Given the description of an element on the screen output the (x, y) to click on. 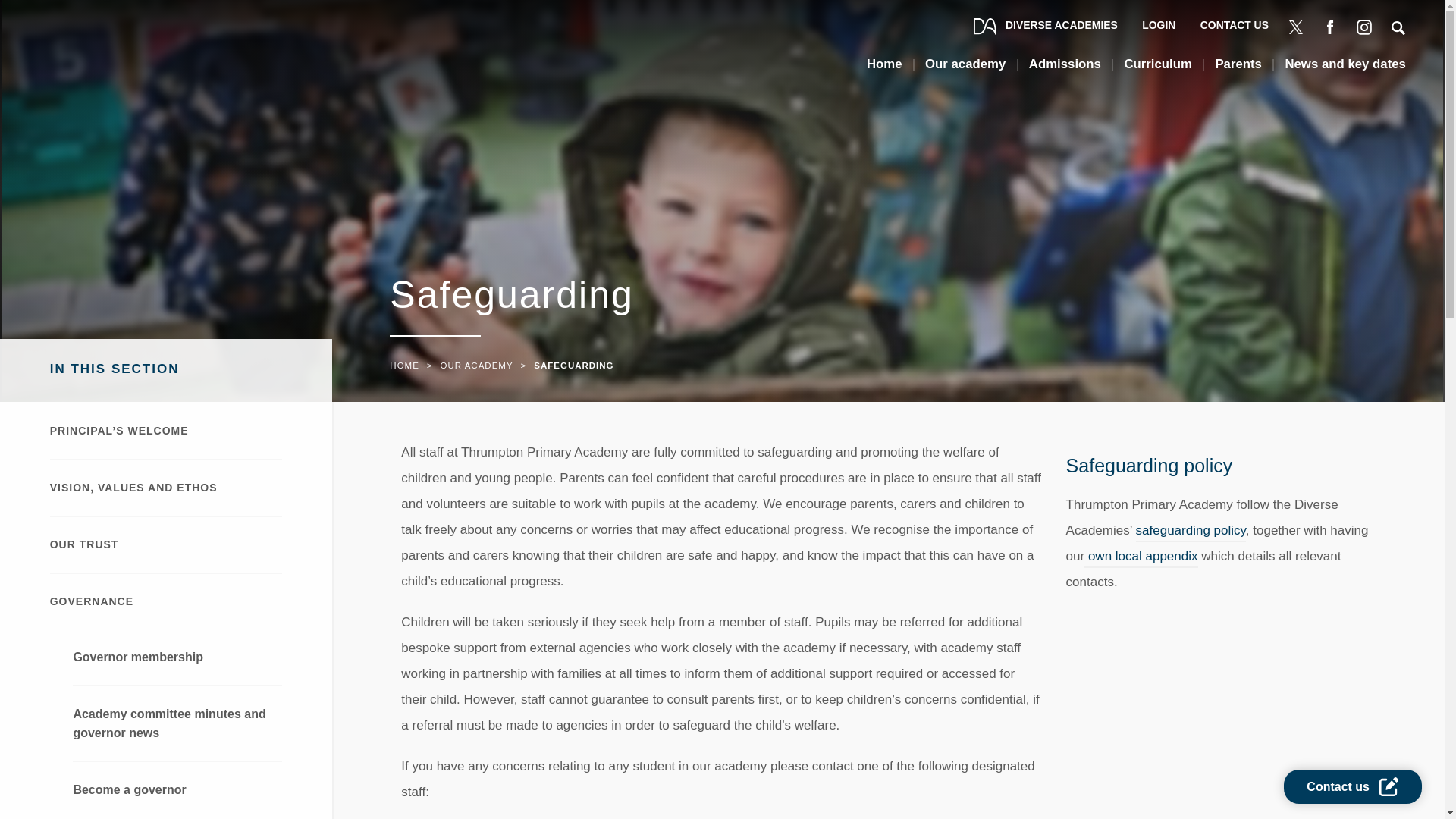
Admissions (1064, 70)
Parents (1238, 70)
Our academy (965, 70)
Curriculum (1158, 70)
